Given the description of an element on the screen output the (x, y) to click on. 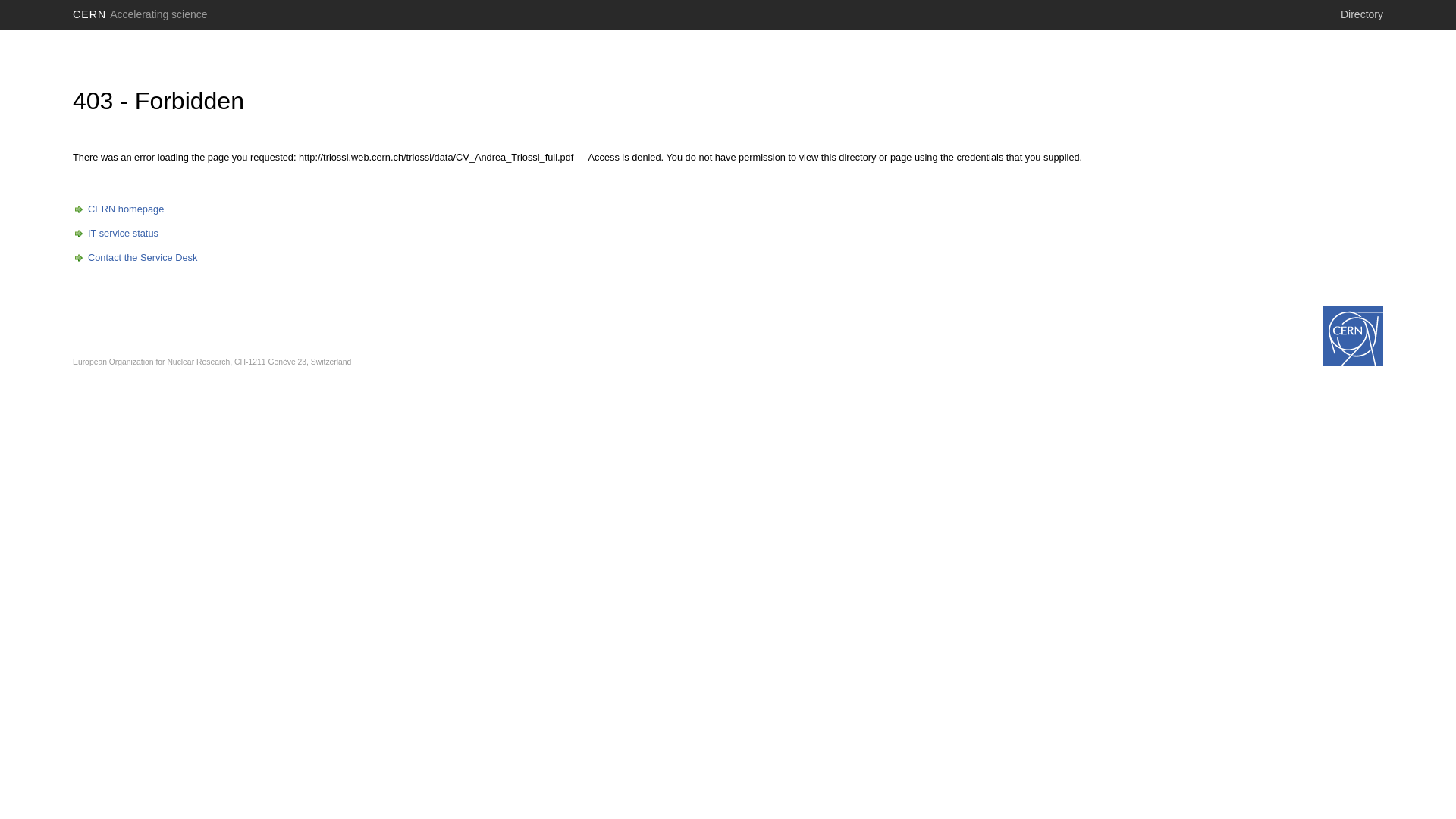
IT service status Element type: text (115, 232)
CERN Accelerating science Element type: text (139, 14)
CERN homepage Element type: text (117, 208)
Contact the Service Desk Element type: text (134, 257)
Directory Element type: text (1361, 14)
home.cern Element type: hover (1352, 335)
